Given the description of an element on the screen output the (x, y) to click on. 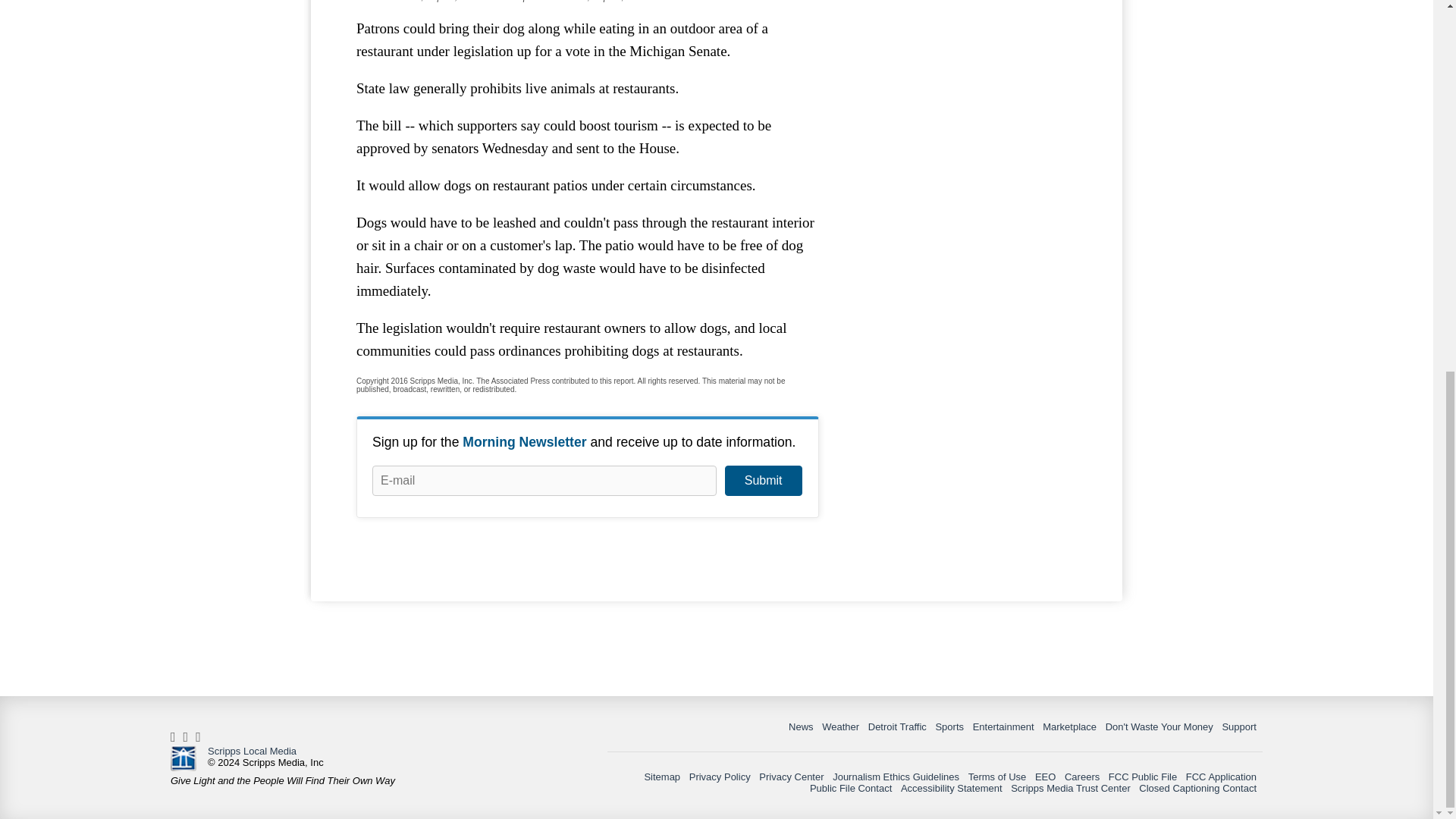
Submit (763, 481)
